Given the description of an element on the screen output the (x, y) to click on. 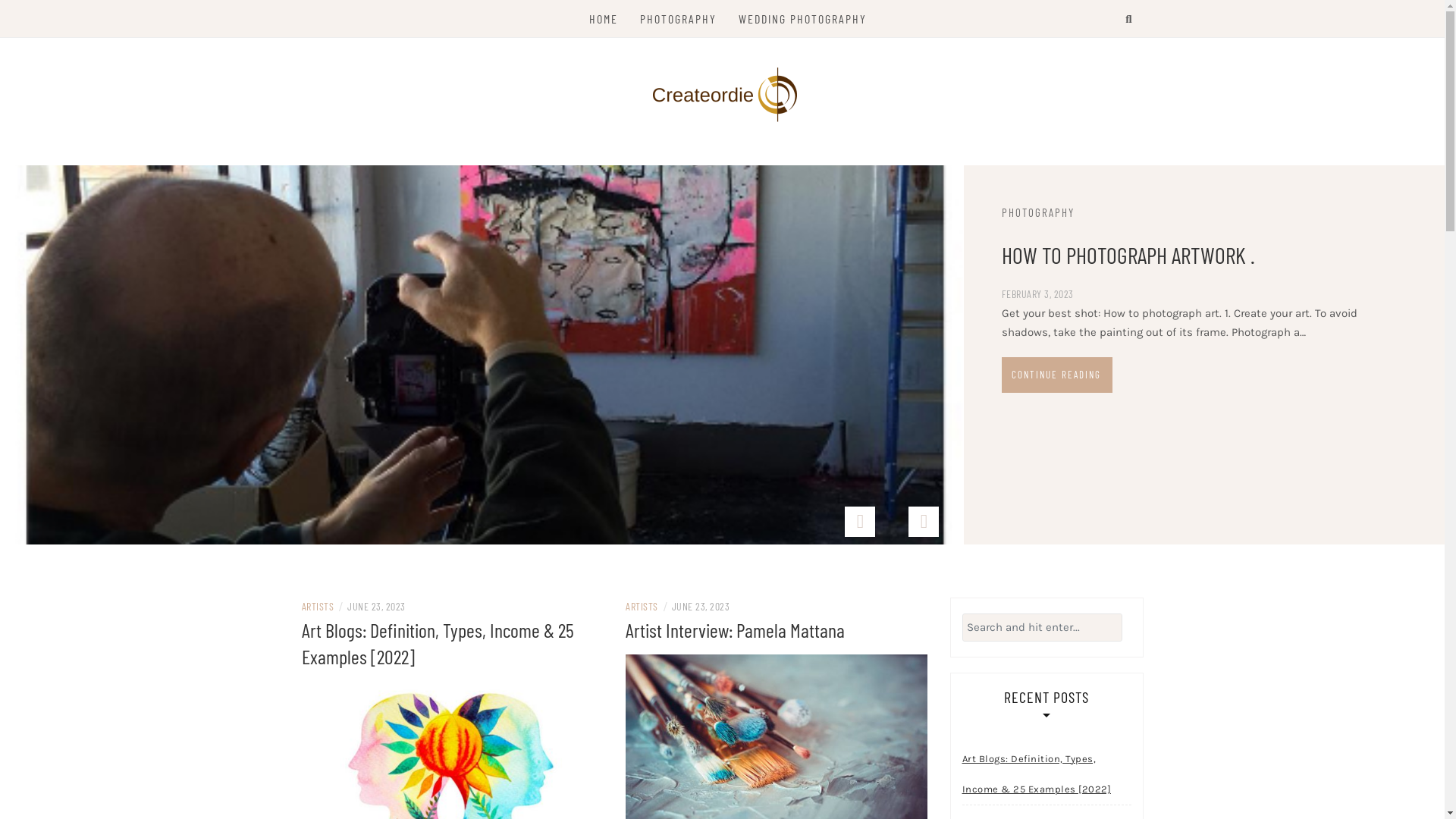
PHOTOGRAPHY Element type: text (678, 18)
WEDDING PHOTOGRAPHY Element type: text (802, 18)
HOME Element type: text (603, 18)
Art Blogs: Definition, Types, Income & 25 Examples [2022] Element type: text (437, 643)
ARTISTS Element type: text (641, 605)
Art Blogs: Definition, Types, Income & 25 Examples [2022] Element type: text (1045, 773)
Artist Interview: Pamela Mattana Element type: text (734, 629)
PHOTOGRAPHY Element type: text (698, 211)
15 FAMOUS CONTEMPORARY PHOTOGRAPHERS AND THEIR PHOTOS Element type: text (828, 272)
Art Blogs: Definition, Types, Income & 25 Examples [2022] Element type: hover (452, 786)
Artist Interview: Pamela Mattana Element type: hover (776, 758)
CONTINUE READING Element type: text (651, 410)
ARTISTS Element type: text (317, 605)
